Given the description of an element on the screen output the (x, y) to click on. 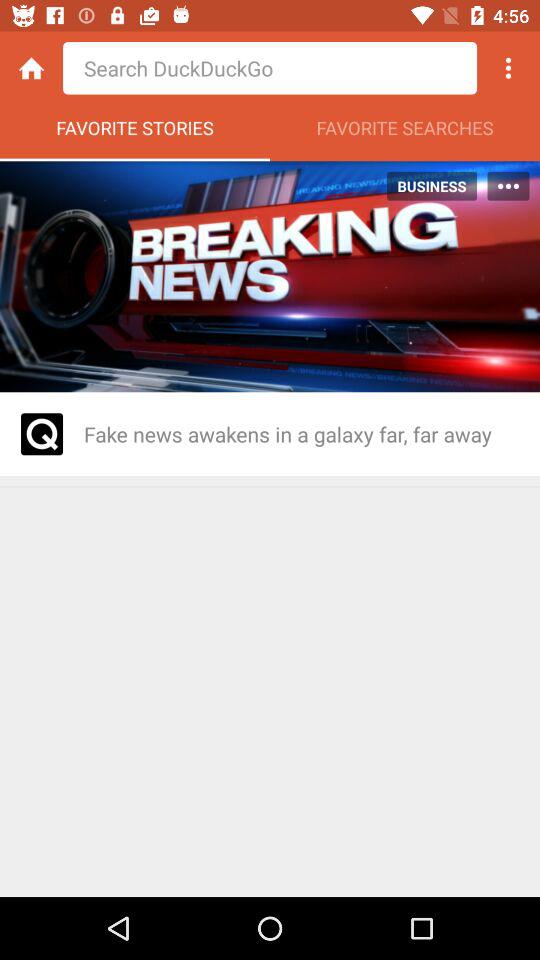
click app to the right of the favorite stories icon (405, 133)
